Given the description of an element on the screen output the (x, y) to click on. 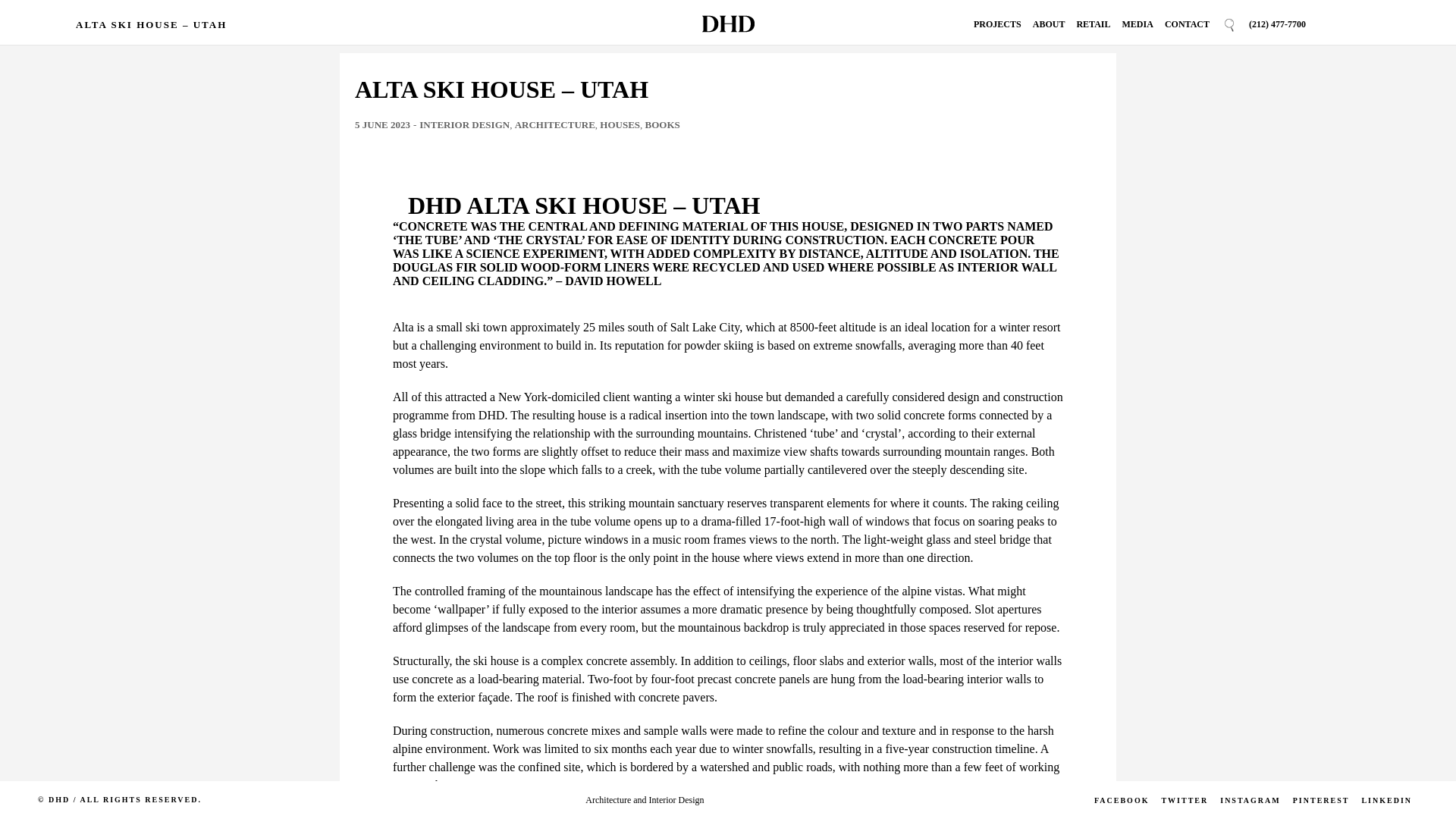
MEDIA (1137, 23)
RETAIL (1092, 23)
CONTACT (1186, 23)
PROJECTS (998, 23)
INTERIOR DESIGN (464, 124)
HOUSES (619, 124)
5 JUNE 2023 (382, 124)
ABOUT (1048, 23)
ARCHITECTURE (555, 124)
BOOKS (662, 124)
